Given the description of an element on the screen output the (x, y) to click on. 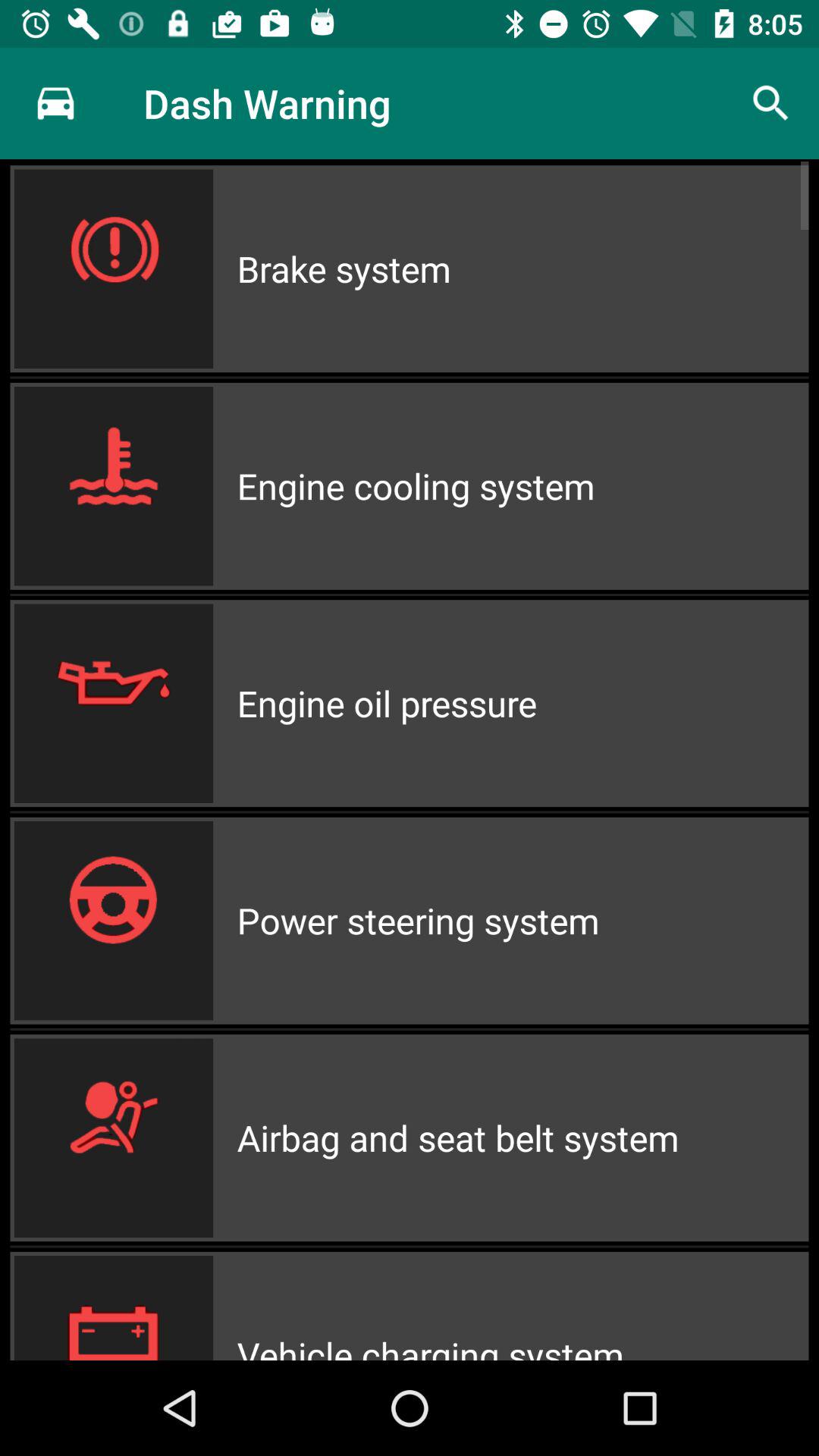
choose icon next to dash warning (55, 103)
